Given the description of an element on the screen output the (x, y) to click on. 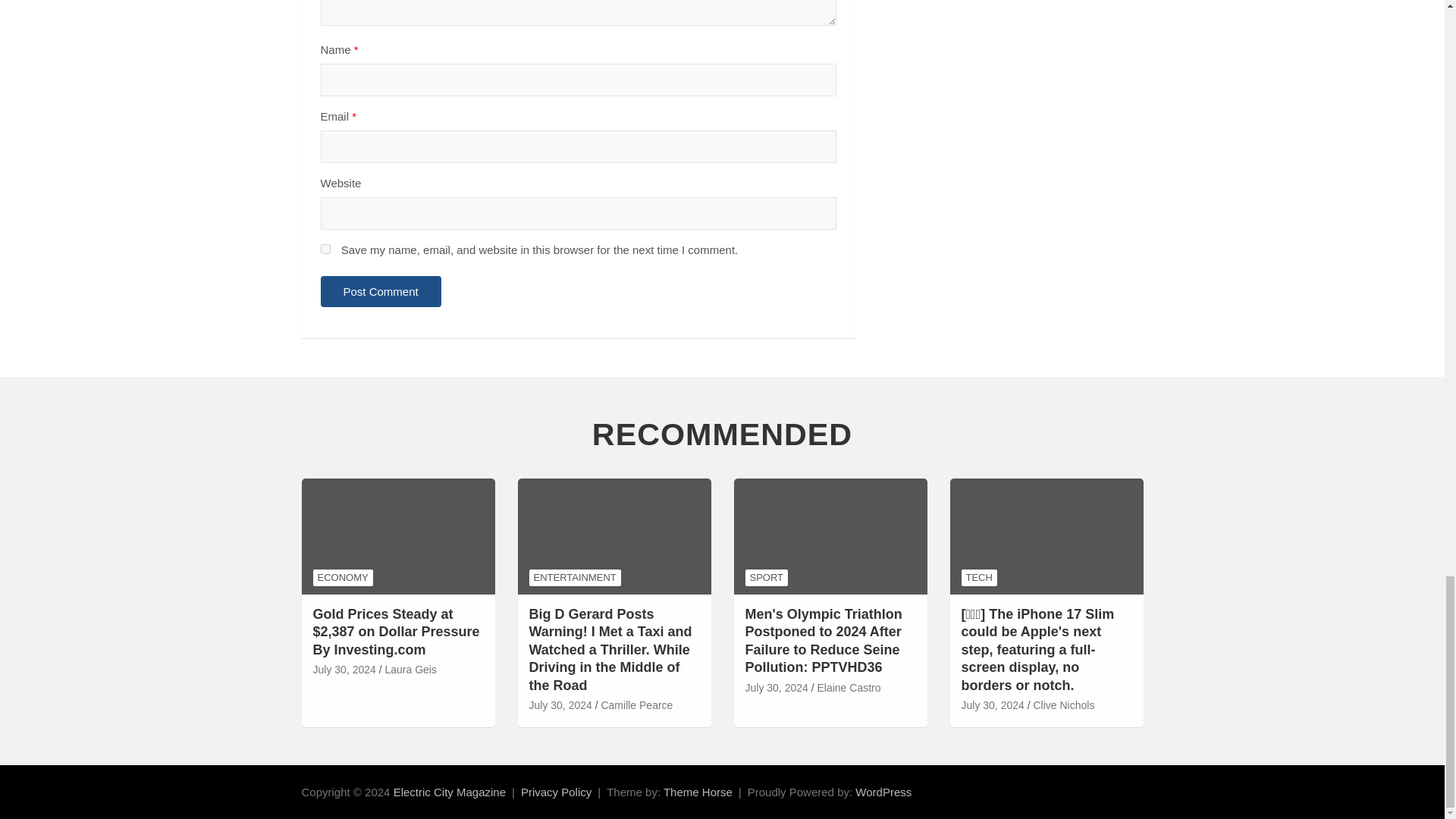
Electric City Magazine (449, 791)
yes (325, 248)
WordPress (883, 791)
Post Comment (380, 291)
Post Comment (380, 291)
Theme Horse (697, 791)
